Given the description of an element on the screen output the (x, y) to click on. 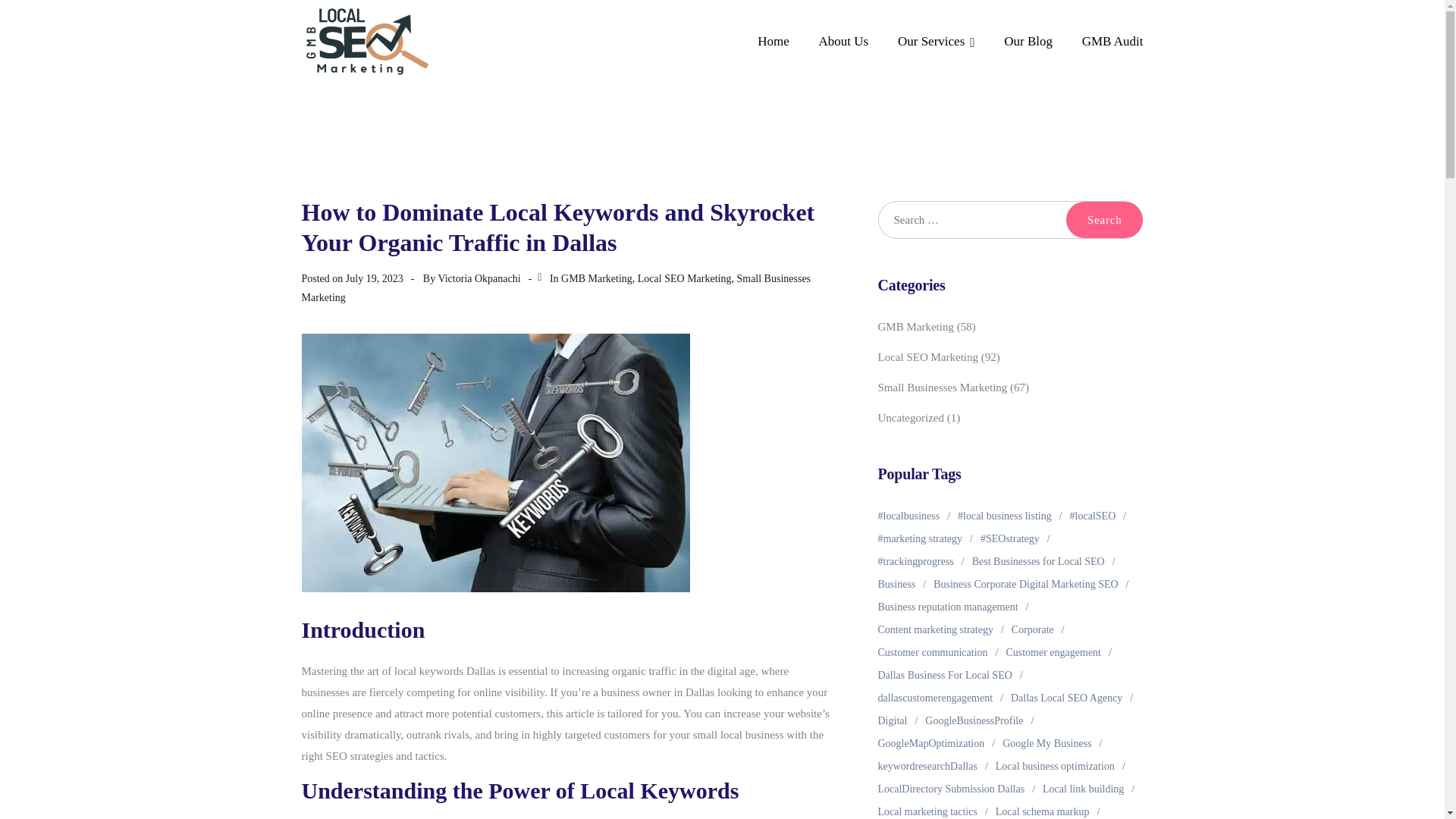
Small Businesses Marketing (555, 287)
Local SEO Marketing (684, 278)
July 19, 2023 (374, 278)
Search (1103, 219)
Victoria Okpanachi (478, 278)
GMB Audit (1111, 42)
Search (1103, 219)
GMB Marketing (595, 278)
Our Services (936, 42)
